Given the description of an element on the screen output the (x, y) to click on. 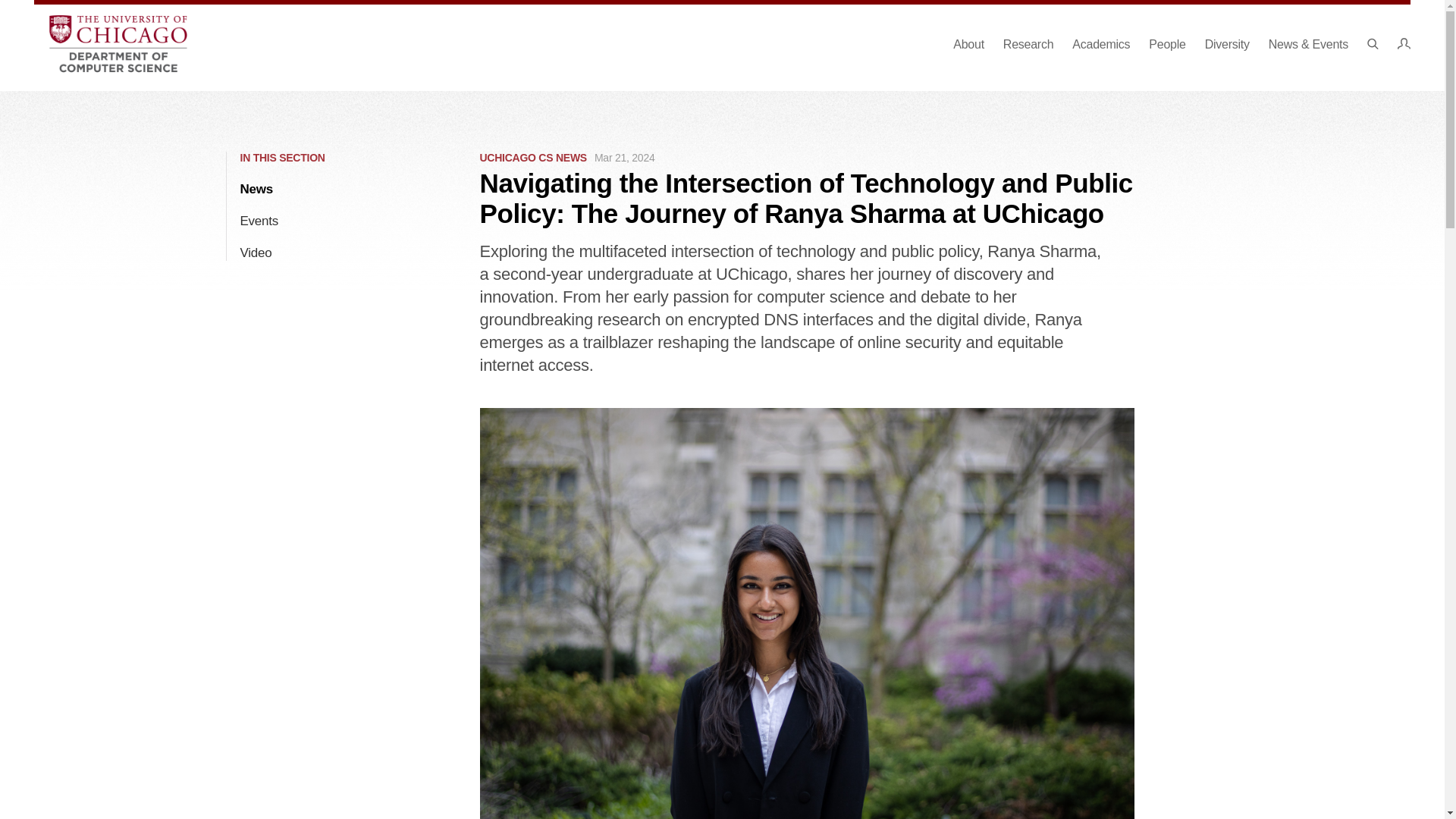
Academics (1100, 44)
About (968, 44)
Research (1027, 44)
